Given the description of an element on the screen output the (x, y) to click on. 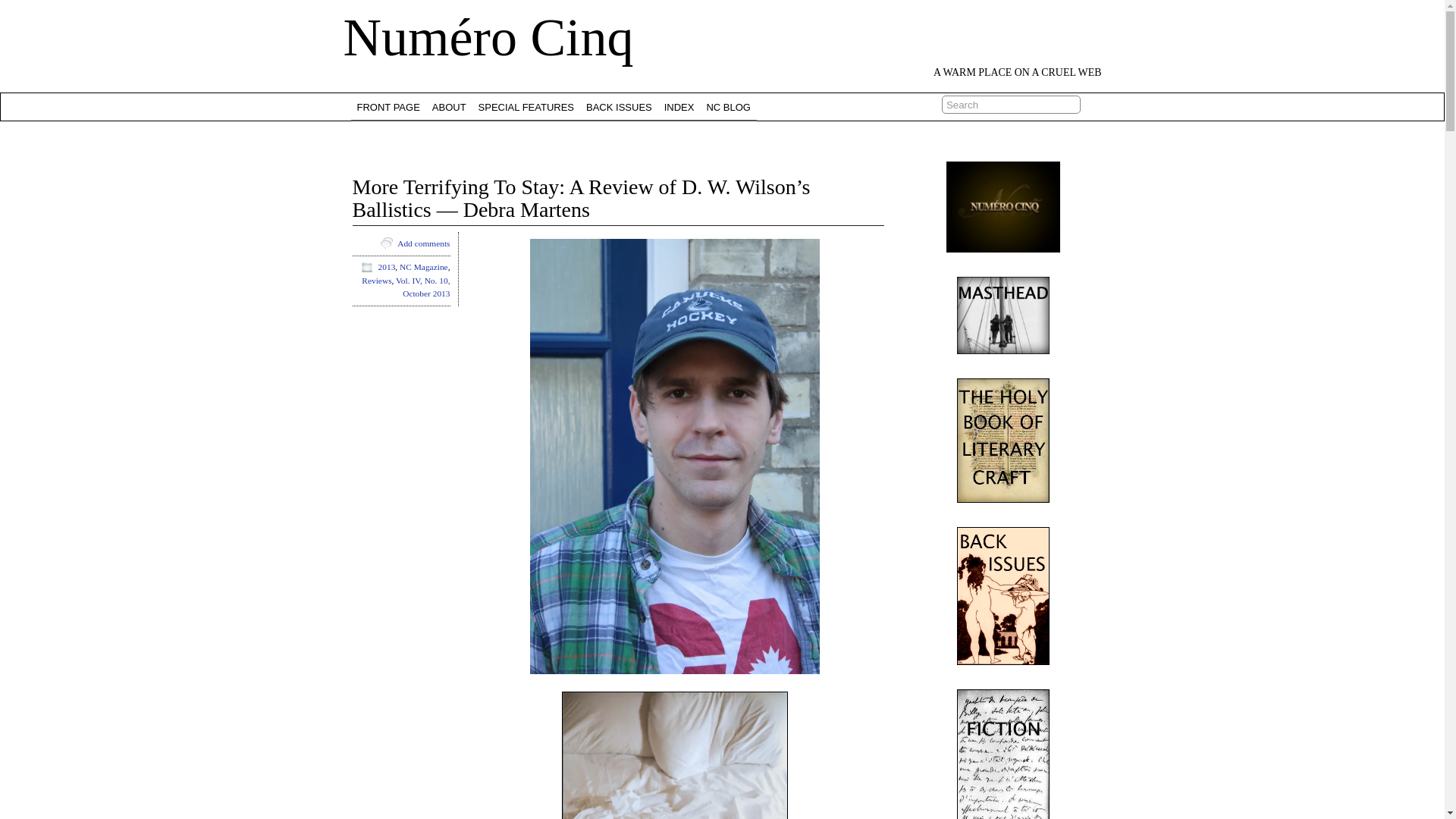
NC BLOG (728, 106)
SPECIAL FEATURES (525, 106)
FRONT PAGE (387, 106)
Search (1011, 104)
ABOUT (448, 106)
INDEX (679, 106)
Search (1011, 104)
BACK ISSUES (618, 106)
